Given the description of an element on the screen output the (x, y) to click on. 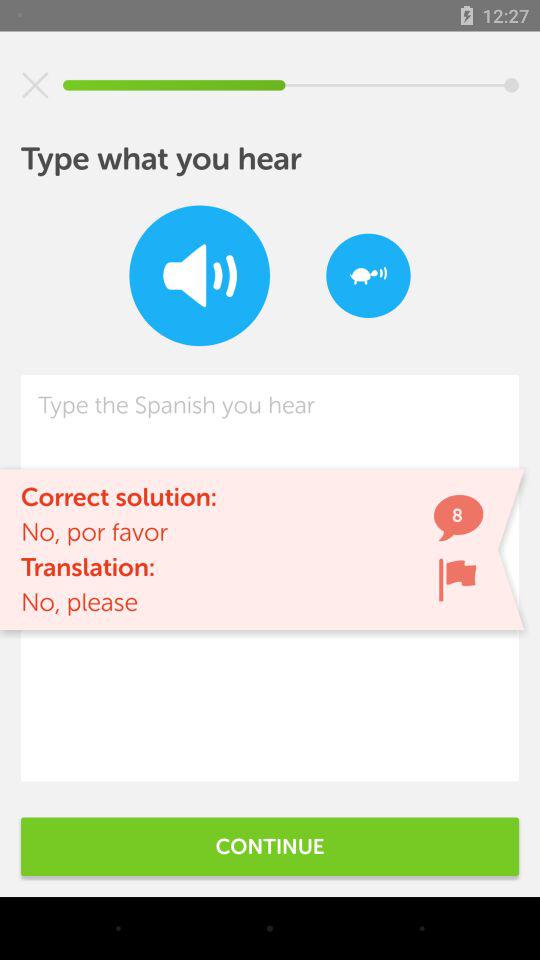
go to sound option (199, 275)
